Given the description of an element on the screen output the (x, y) to click on. 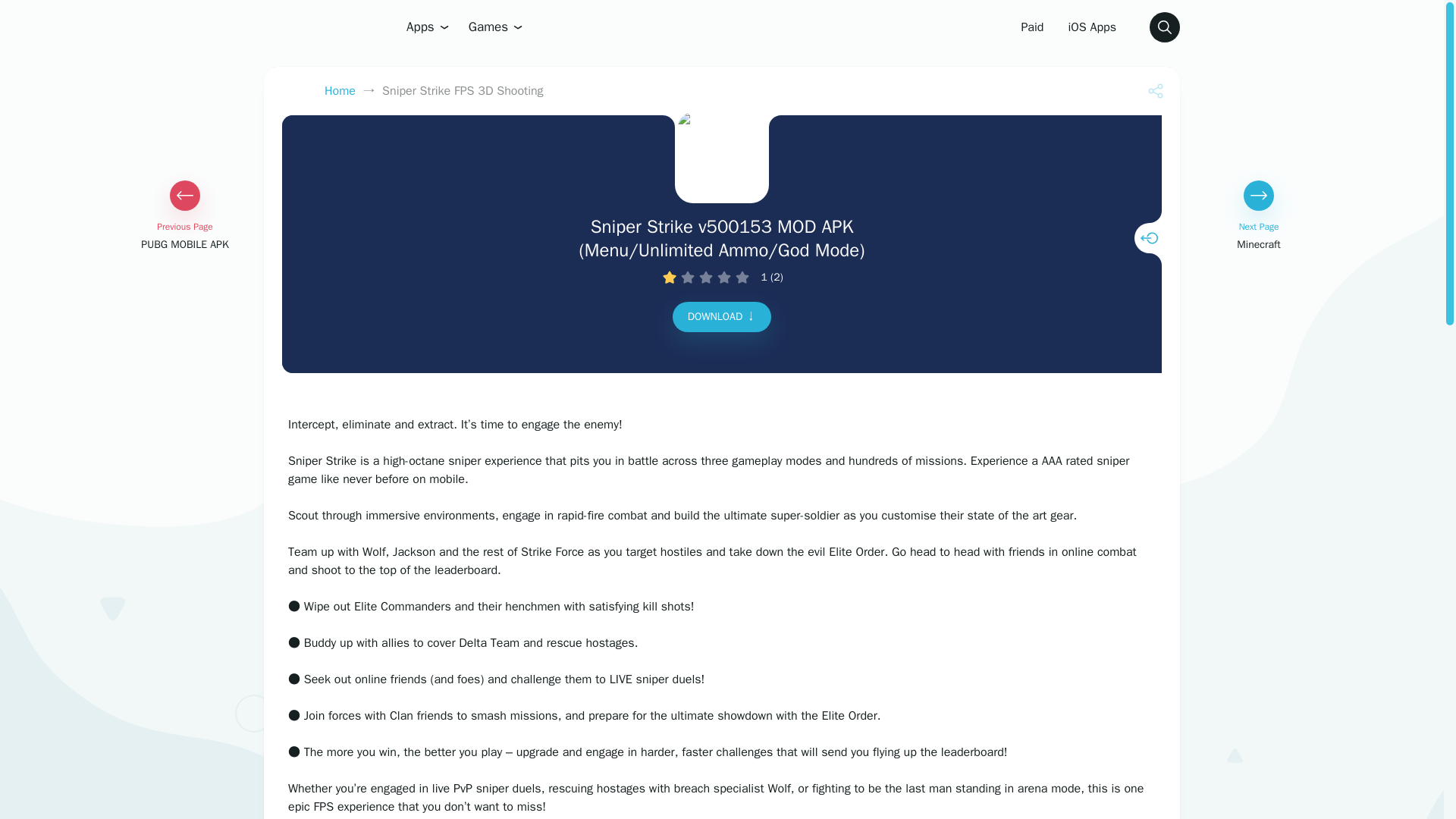
Games (496, 27)
iOS Apps (1091, 27)
Useless (669, 277)
APKOMTK.COM (306, 27)
Fair (705, 277)
Next Page (1258, 236)
Apps (428, 27)
Previous Page (185, 236)
Good (723, 277)
Poor (687, 277)
Paid (1031, 27)
Excellent (742, 277)
